Given the description of an element on the screen output the (x, y) to click on. 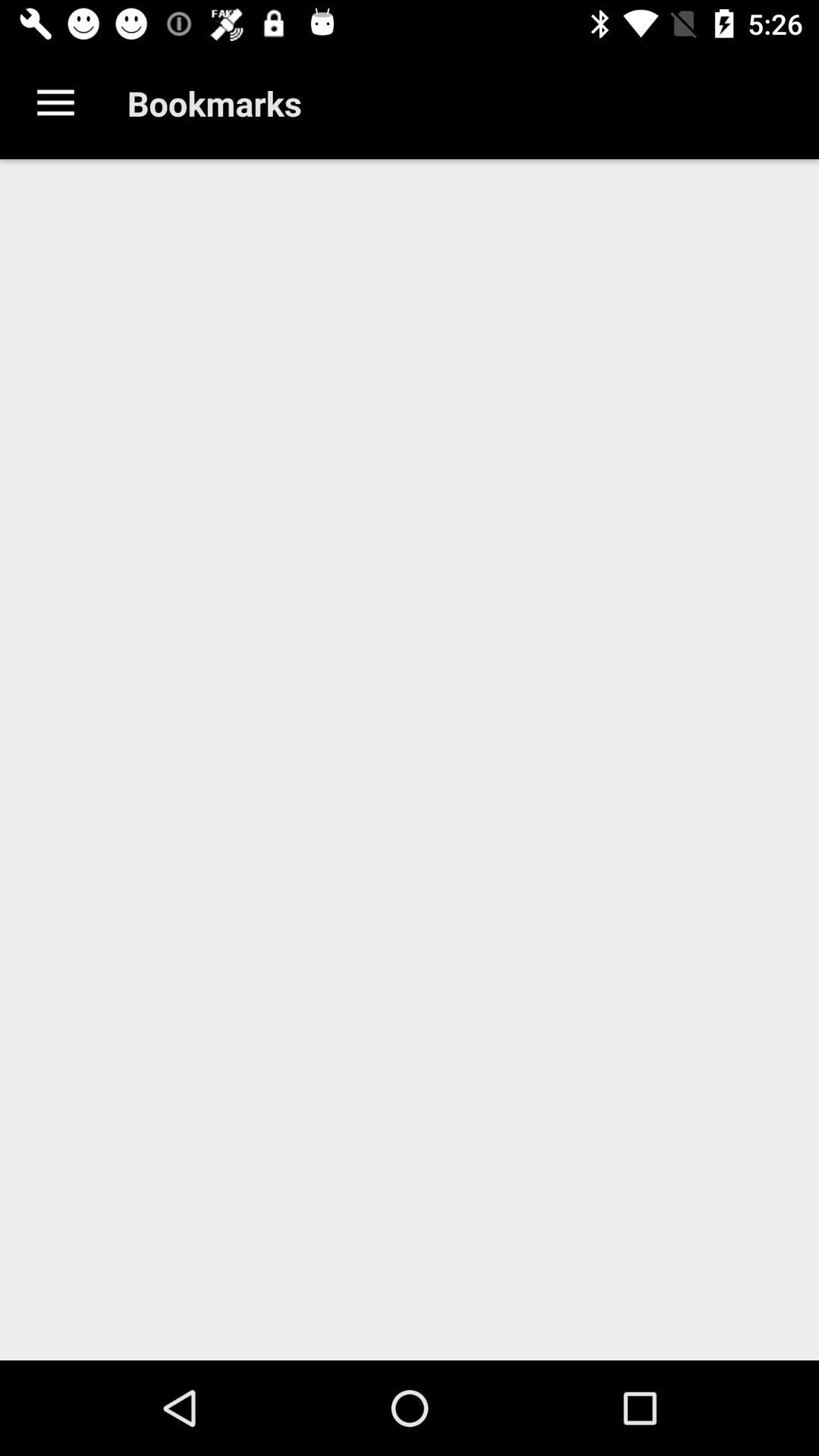
press the item to the left of the bookmarks (55, 103)
